Given the description of an element on the screen output the (x, y) to click on. 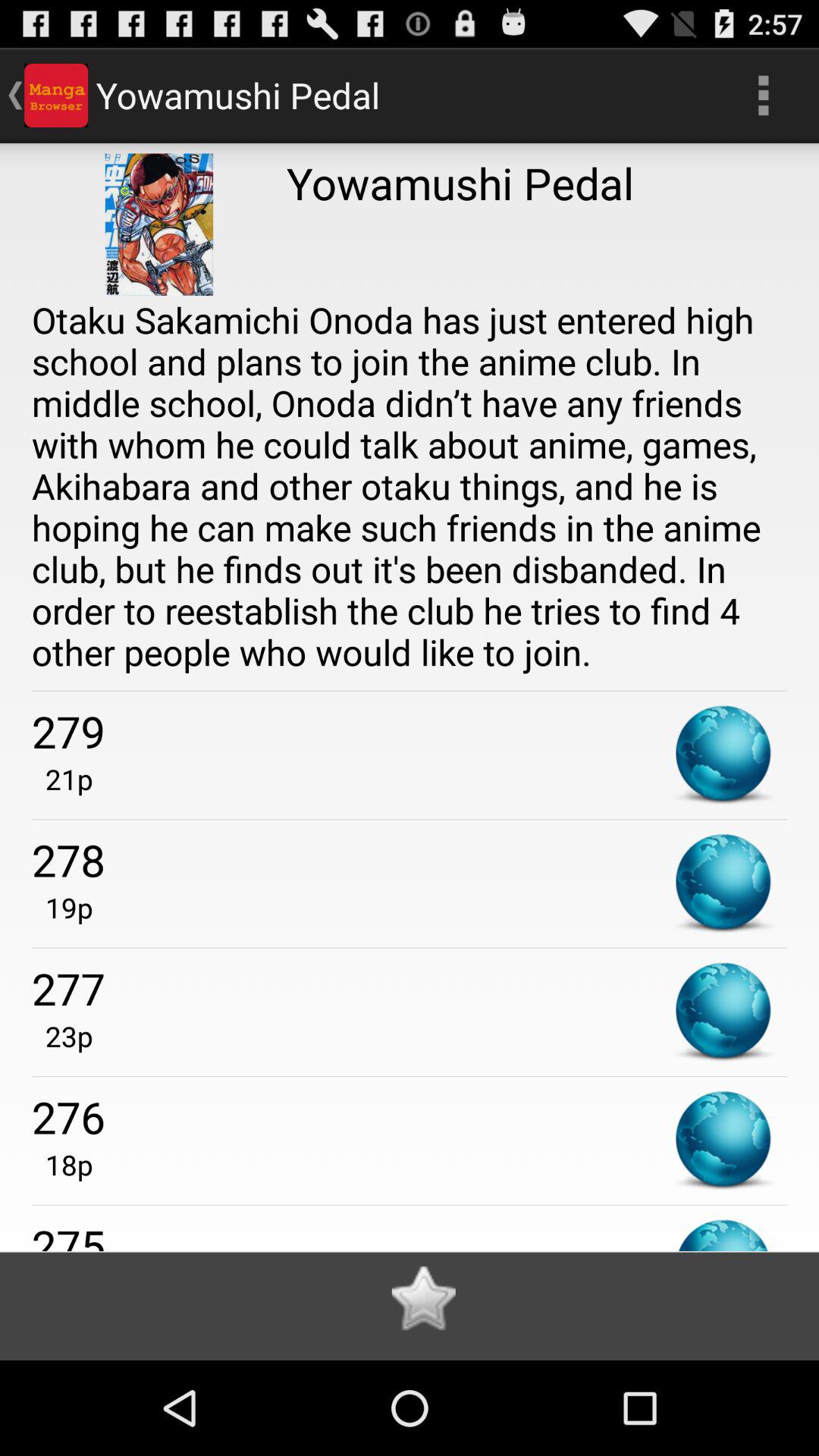
click item below the 277 app (61, 1036)
